Given the description of an element on the screen output the (x, y) to click on. 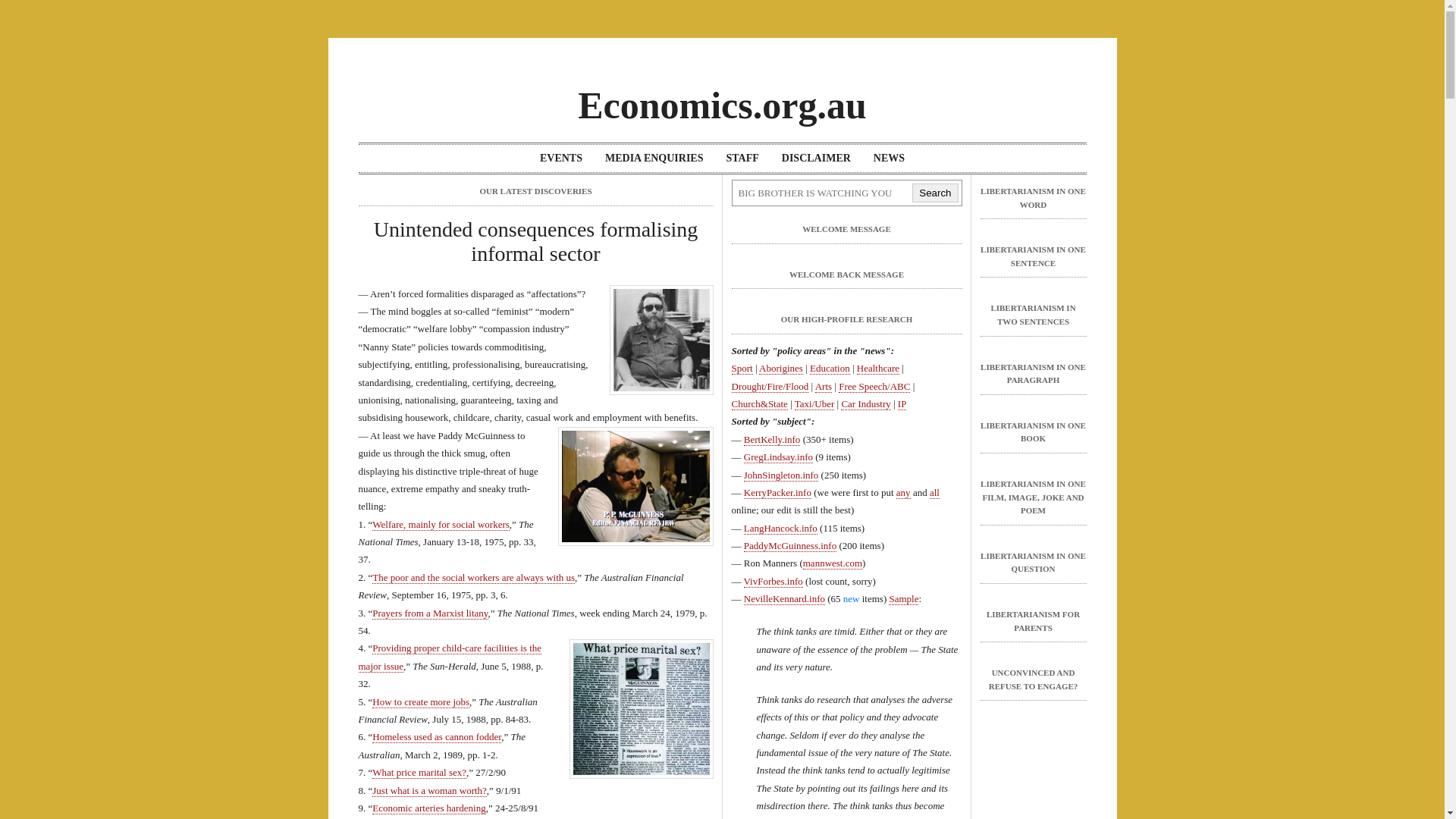
Prayers from a Marxist litany Element type: text (429, 613)
What price marital sex? Element type: text (419, 772)
Unintended consequences formalising informal sector Element type: text (535, 241)
Sport Element type: text (741, 368)
DISCLAIMER Element type: text (816, 158)
Homeless used as cannon fodder Element type: text (436, 737)
The poor and the social workers are always with us Element type: text (473, 577)
Search Element type: text (934, 192)
NevilleKennard.info Element type: text (784, 599)
EVENTS Element type: text (560, 158)
MEDIA ENQUIRIES Element type: text (654, 158)
Economic arteries hardening Element type: text (428, 808)
Just what is a woman worth? Element type: text (429, 790)
BertKelly.info Element type: text (771, 439)
Providing proper child-care facilities is the major issue Element type: text (449, 656)
KerryPacker.info Element type: text (777, 492)
PaddyMcGuinness.info Element type: text (789, 545)
JohnSingleton.info Element type: text (781, 475)
Car Industry Element type: text (865, 404)
Arts Element type: text (823, 386)
Taxi/Uber Element type: text (814, 404)
Healthcare Element type: text (877, 368)
all Element type: text (934, 492)
mannwest.com Element type: text (832, 563)
Sample Element type: text (903, 599)
GregLindsay.info Element type: text (777, 457)
STAFF Element type: text (741, 158)
Economics.org.au Element type: text (721, 105)
IP Element type: text (901, 404)
Aborigines Element type: text (781, 368)
LangHancock.info Element type: text (780, 528)
Church&State Element type: text (759, 404)
any Element type: text (903, 492)
Education Element type: text (829, 368)
Welfare, mainly for social workers Element type: text (440, 524)
How to create more jobs Element type: text (420, 702)
VivForbes.info Element type: text (773, 581)
Free Speech/ABC Element type: text (874, 386)
Drought/Fire/Flood Element type: text (769, 386)
NEWS Element type: text (889, 158)
